Given the description of an element on the screen output the (x, y) to click on. 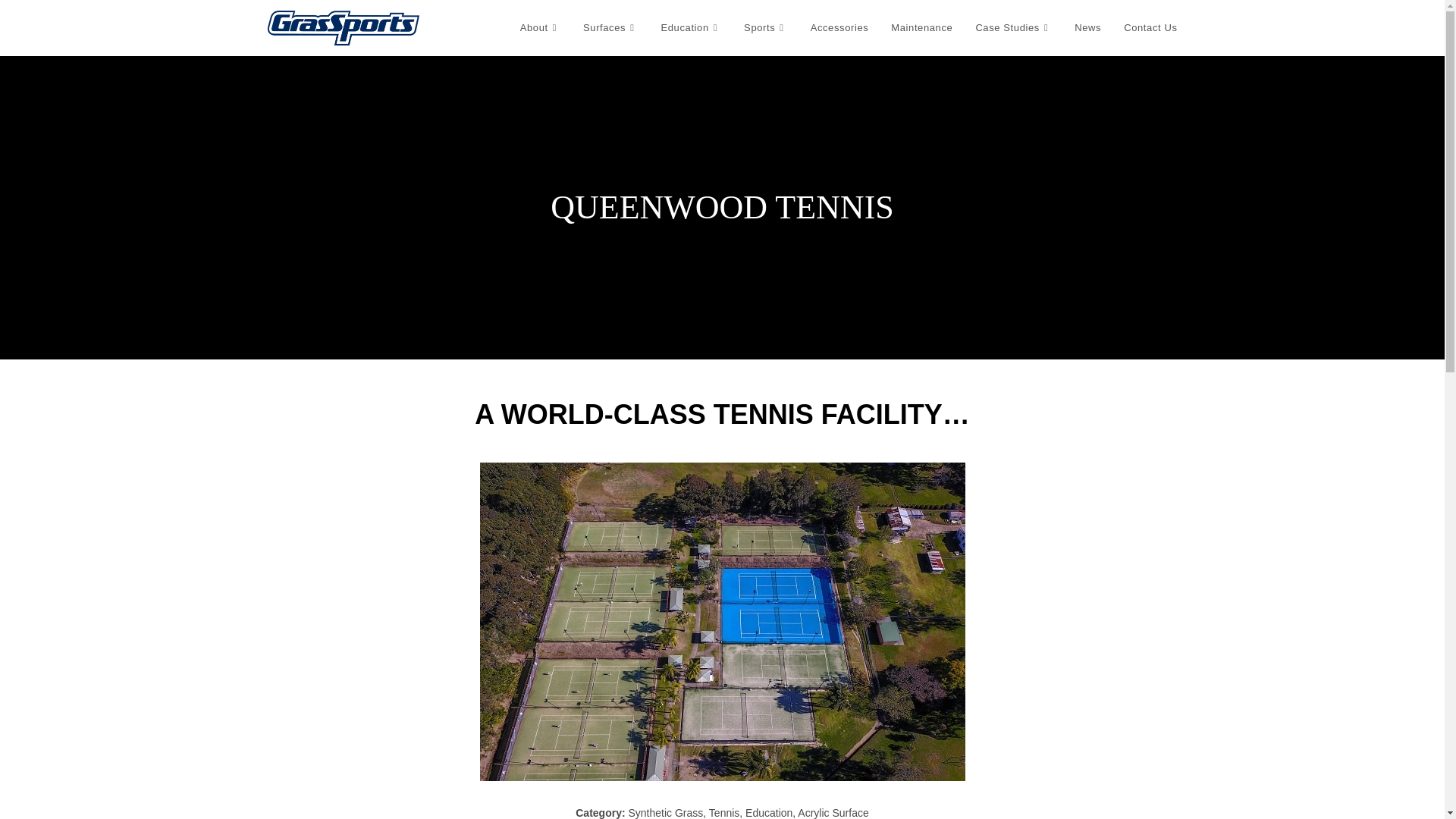
Education (691, 28)
Accessories (839, 28)
Sports (765, 28)
About (540, 28)
Case Studies (1012, 28)
Surfaces (610, 28)
Maintenance (921, 28)
